Given the description of an element on the screen output the (x, y) to click on. 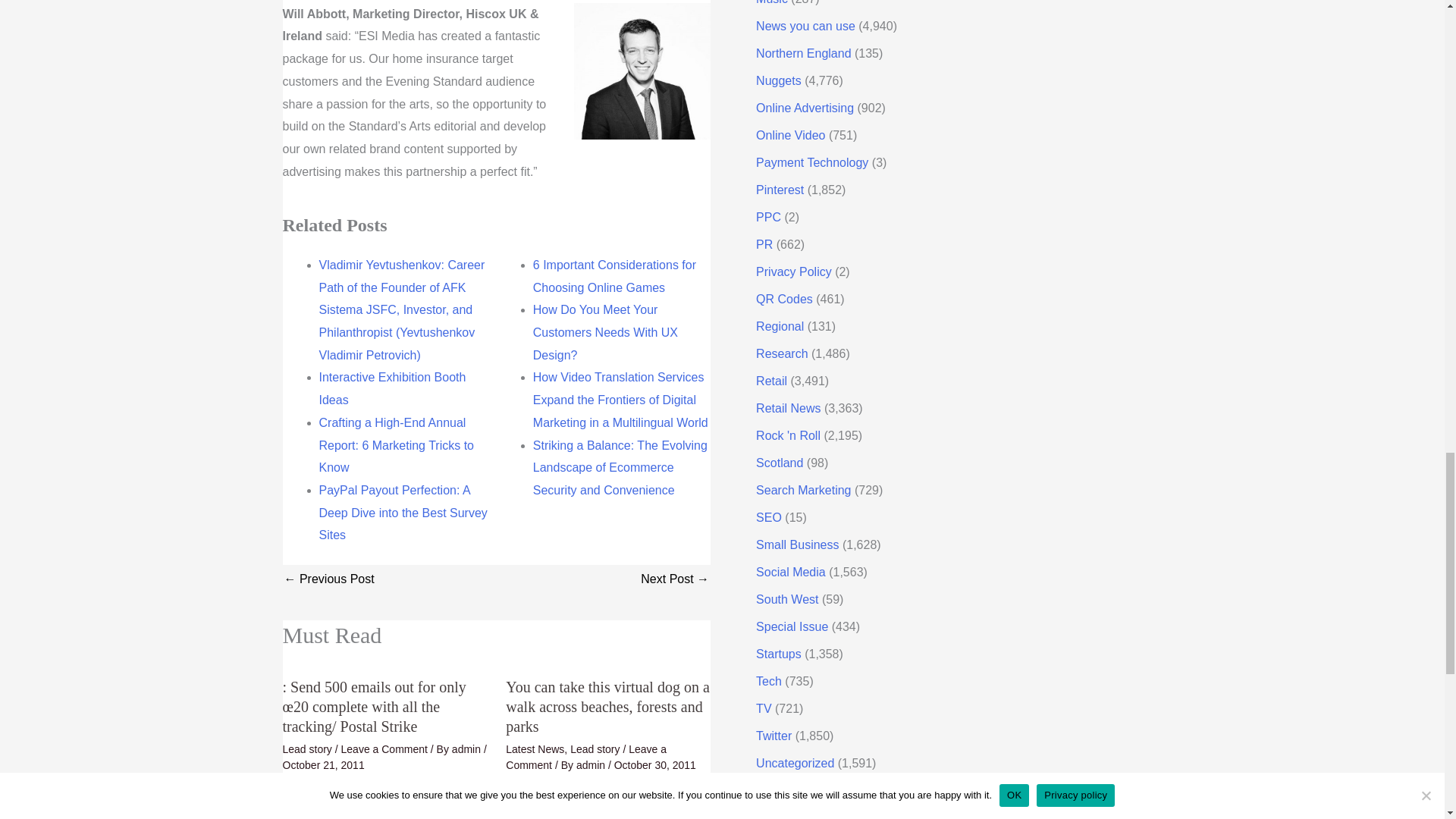
View all posts by admin (467, 748)
Watch : Is this the most racist commercial ever? (674, 580)
View all posts by admin (592, 765)
3bea654 (641, 71)
